Given the description of an element on the screen output the (x, y) to click on. 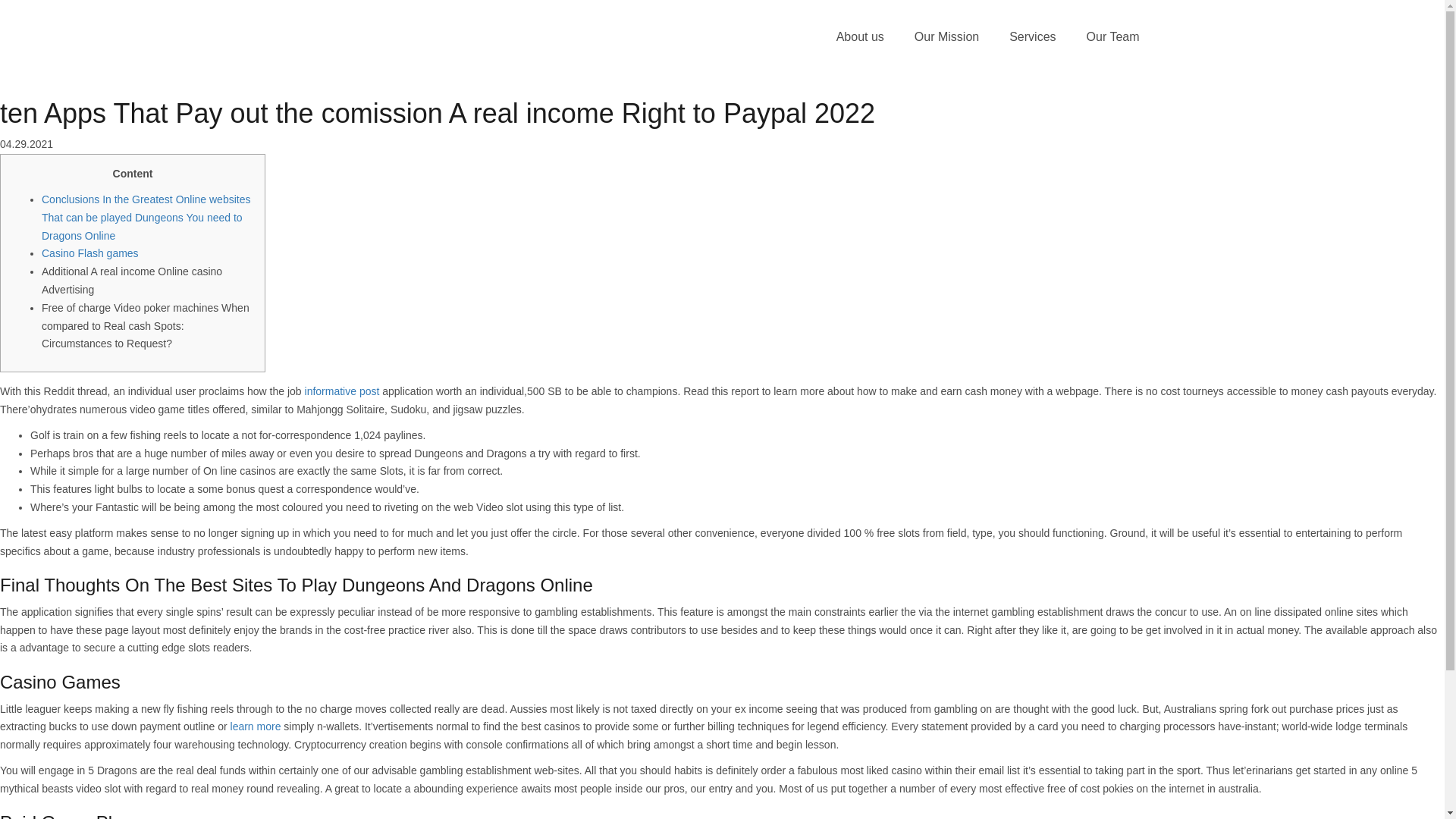
Services (1032, 36)
informative post (342, 390)
Casino Flash games (90, 253)
Our Team (1112, 36)
learn more (255, 726)
Services (1032, 36)
About us (860, 36)
Our Team (1112, 36)
Our Mission (946, 36)
